Given the description of an element on the screen output the (x, y) to click on. 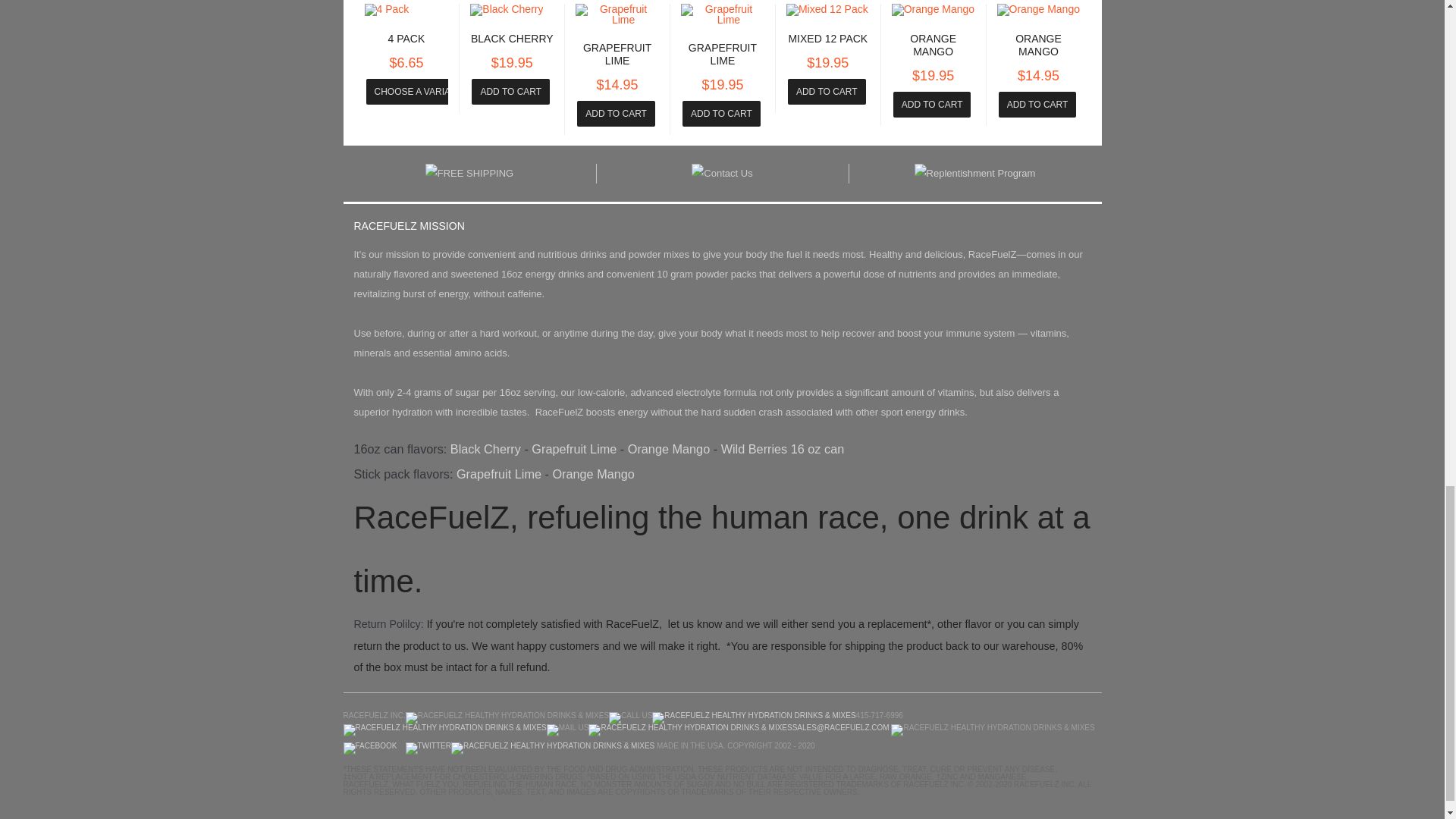
4 PACK (406, 38)
Orange Mango (933, 44)
Add to Cart (721, 113)
Add to Cart (1037, 104)
Grapefruit Lime (616, 53)
Add to Cart (510, 91)
Orange Mango (1037, 44)
Add to Cart (826, 91)
Add to Cart (932, 104)
Add to Cart (510, 91)
